Given the description of an element on the screen output the (x, y) to click on. 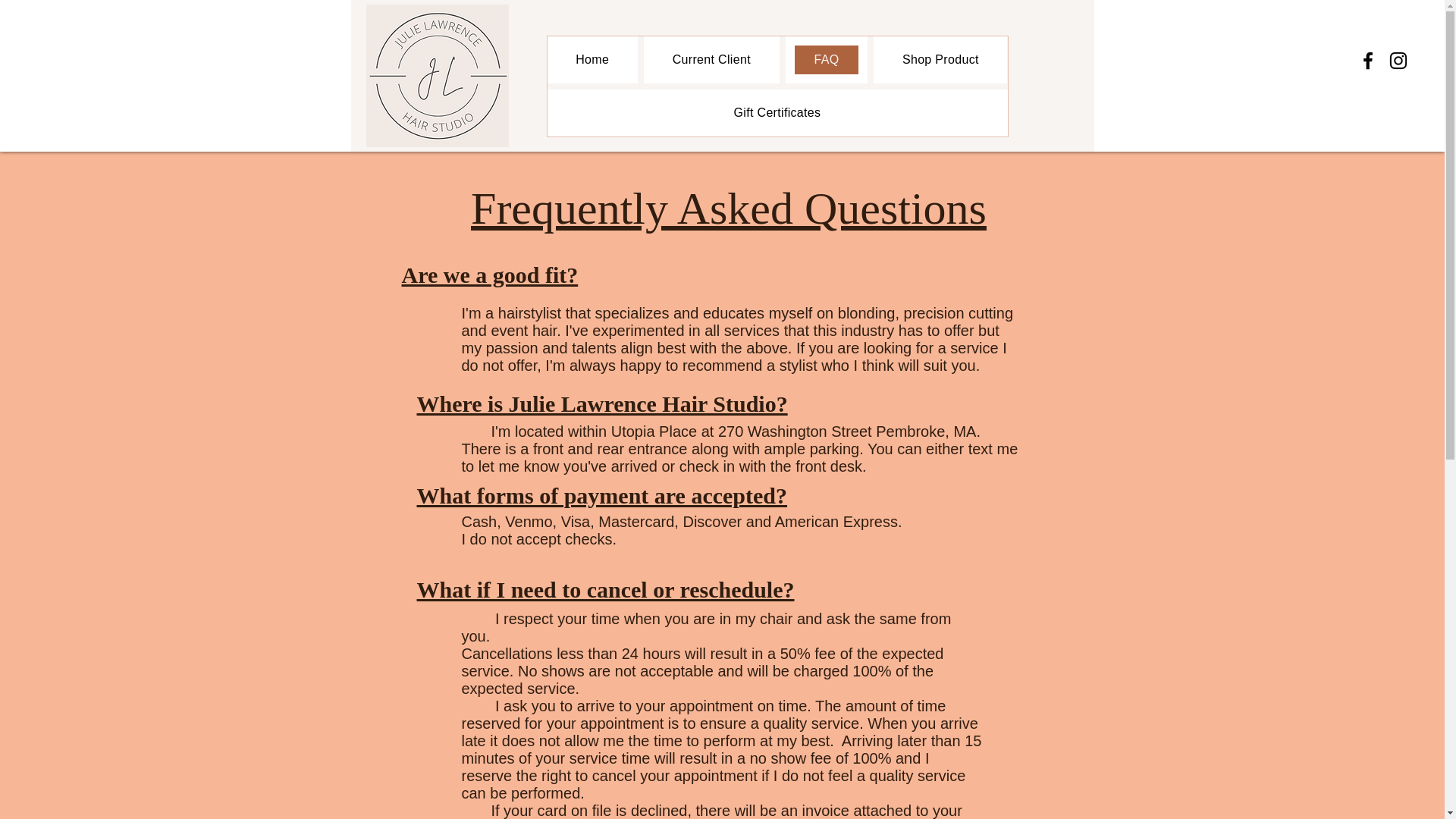
Current Client (710, 59)
Gift Certificates (777, 112)
Shop Product (940, 59)
Home (592, 59)
FAQ (826, 59)
